Given the description of an element on the screen output the (x, y) to click on. 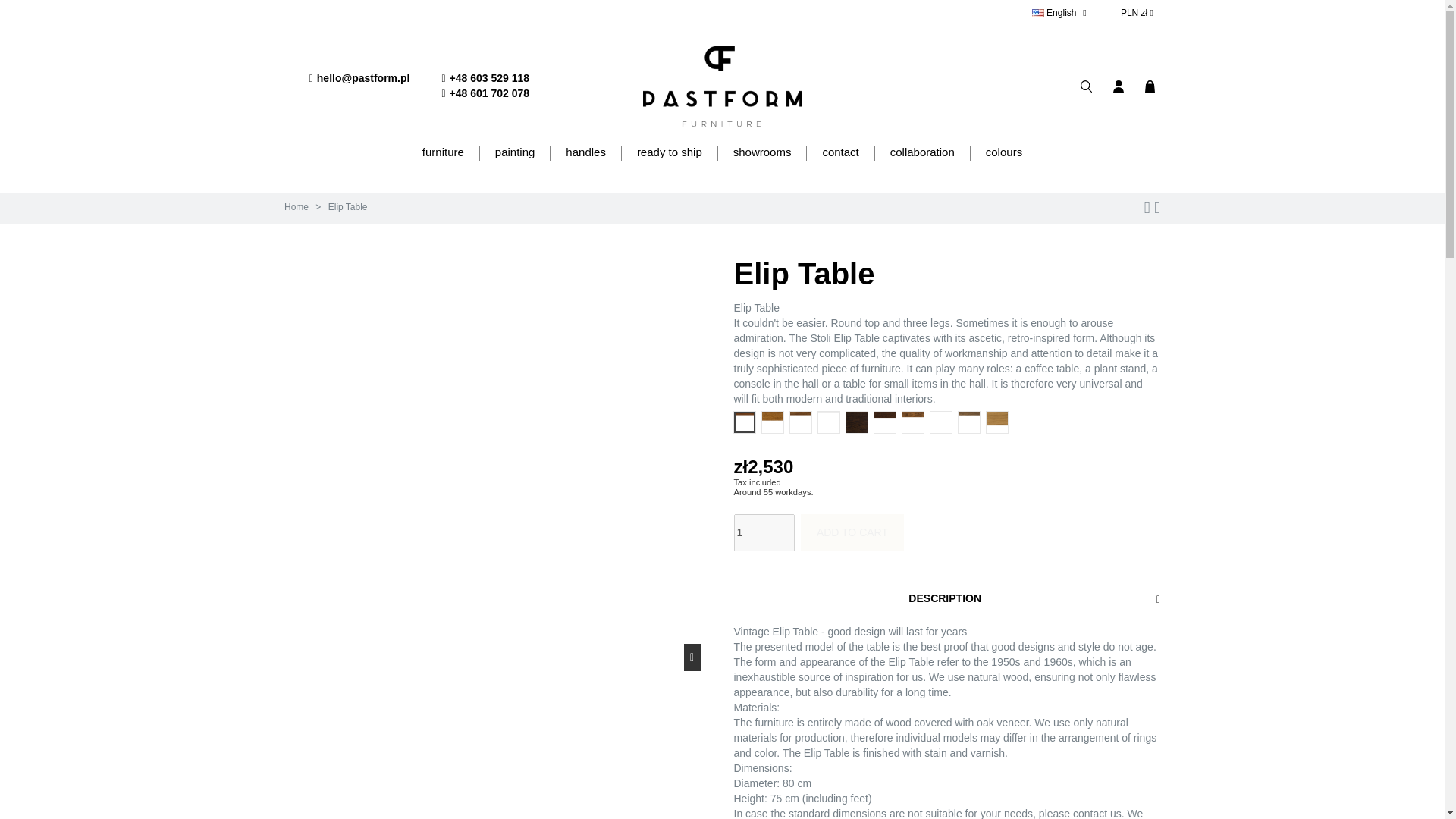
furniture (443, 152)
contact (839, 152)
showrooms (761, 152)
painting (514, 152)
handles (585, 152)
English (1061, 12)
1 (763, 532)
colours (1002, 152)
collaboration (922, 152)
ready to ship (669, 152)
